Given the description of an element on the screen output the (x, y) to click on. 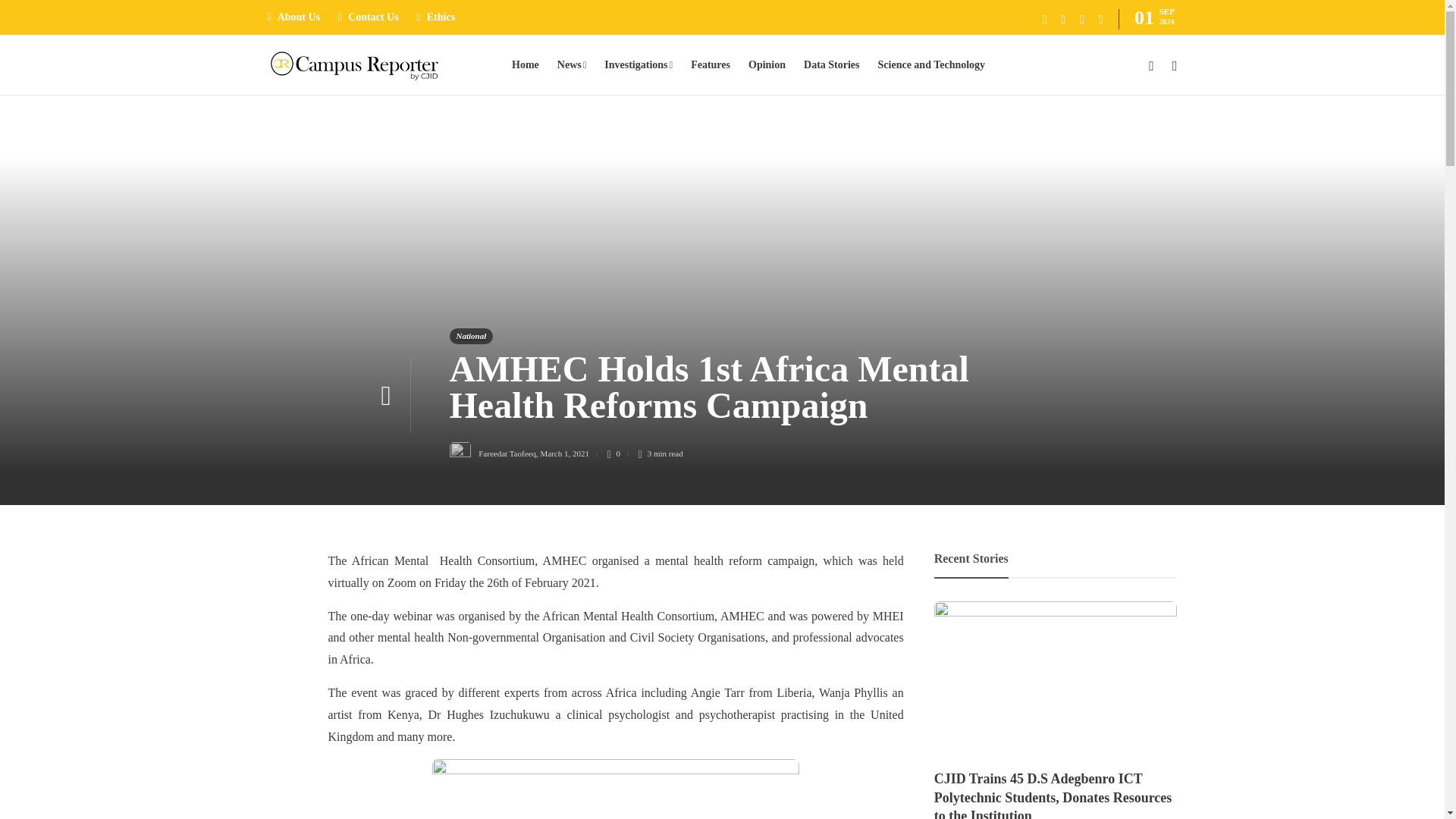
Contact Us (367, 17)
0 (617, 453)
Ethics (435, 17)
Fareedat Taofeeq (507, 452)
Data Stories (831, 65)
National (470, 335)
About Us (293, 17)
March 1, 2021 (564, 452)
Investigations (638, 65)
Science and Technology (931, 65)
